Given the description of an element on the screen output the (x, y) to click on. 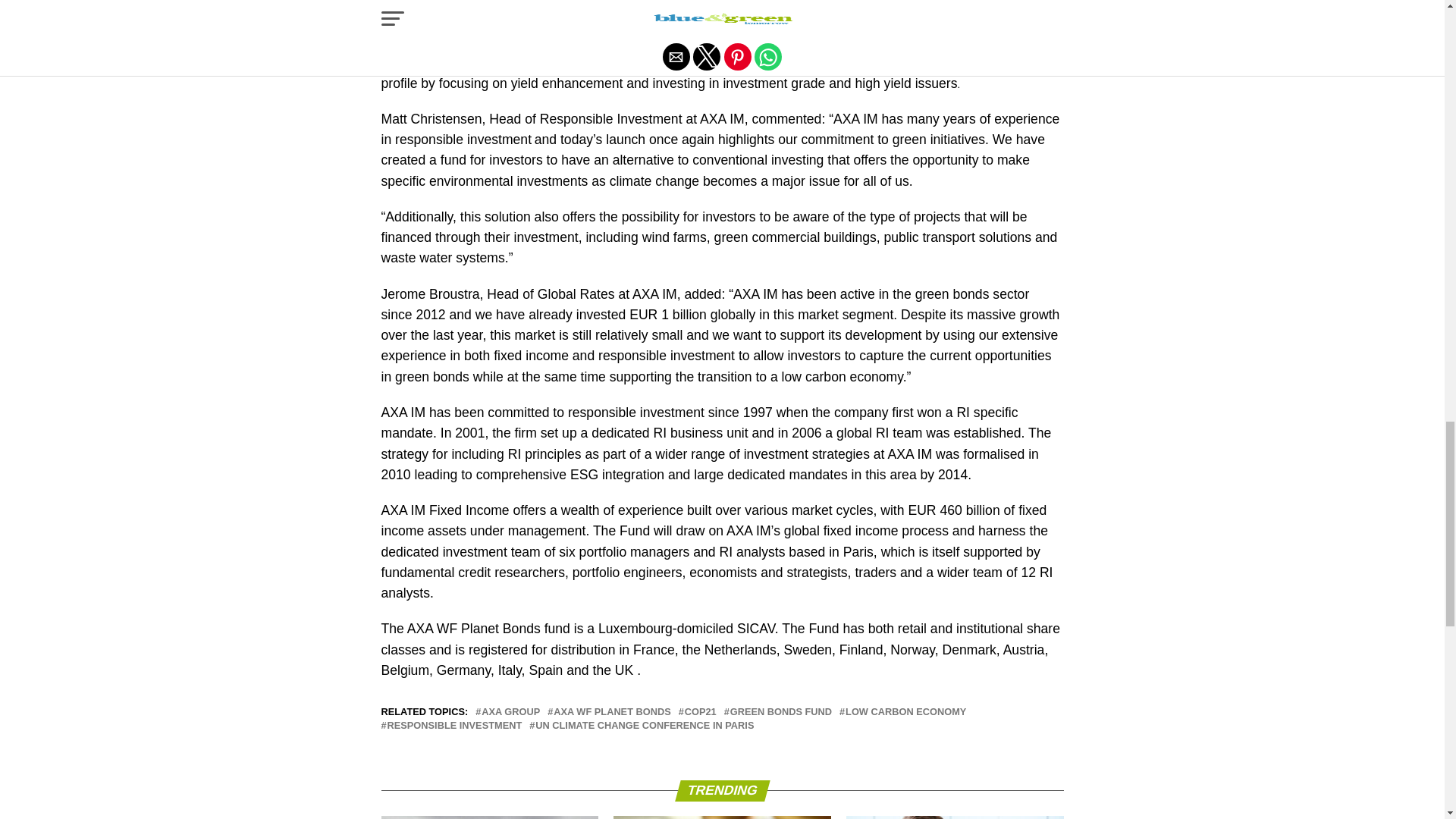
LOW CARBON ECONOMY (905, 712)
AXA WF PLANET BONDS (612, 712)
RESPONSIBLE INVESTMENT (454, 726)
UN CLIMATE CHANGE CONFERENCE IN PARIS (644, 726)
GREEN BONDS FUND (780, 712)
COP21 (700, 712)
AXA GROUP (510, 712)
